Given the description of an element on the screen output the (x, y) to click on. 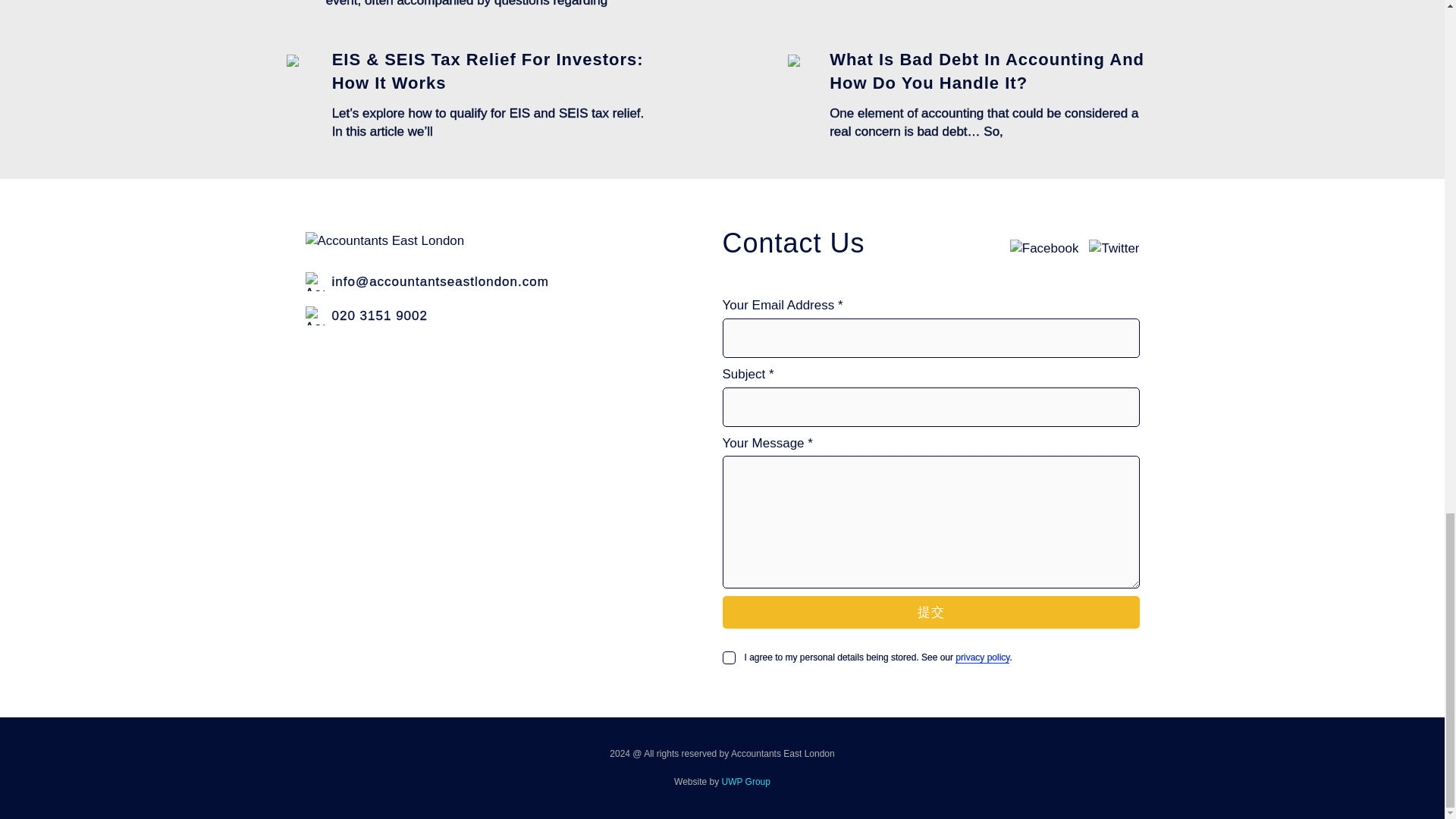
on (728, 657)
UWP Group (746, 781)
privacy policy (982, 657)
What Is Bad Debt In Accounting And How Do You Handle It? (986, 70)
020 3151 9002 (471, 315)
